Given the description of an element on the screen output the (x, y) to click on. 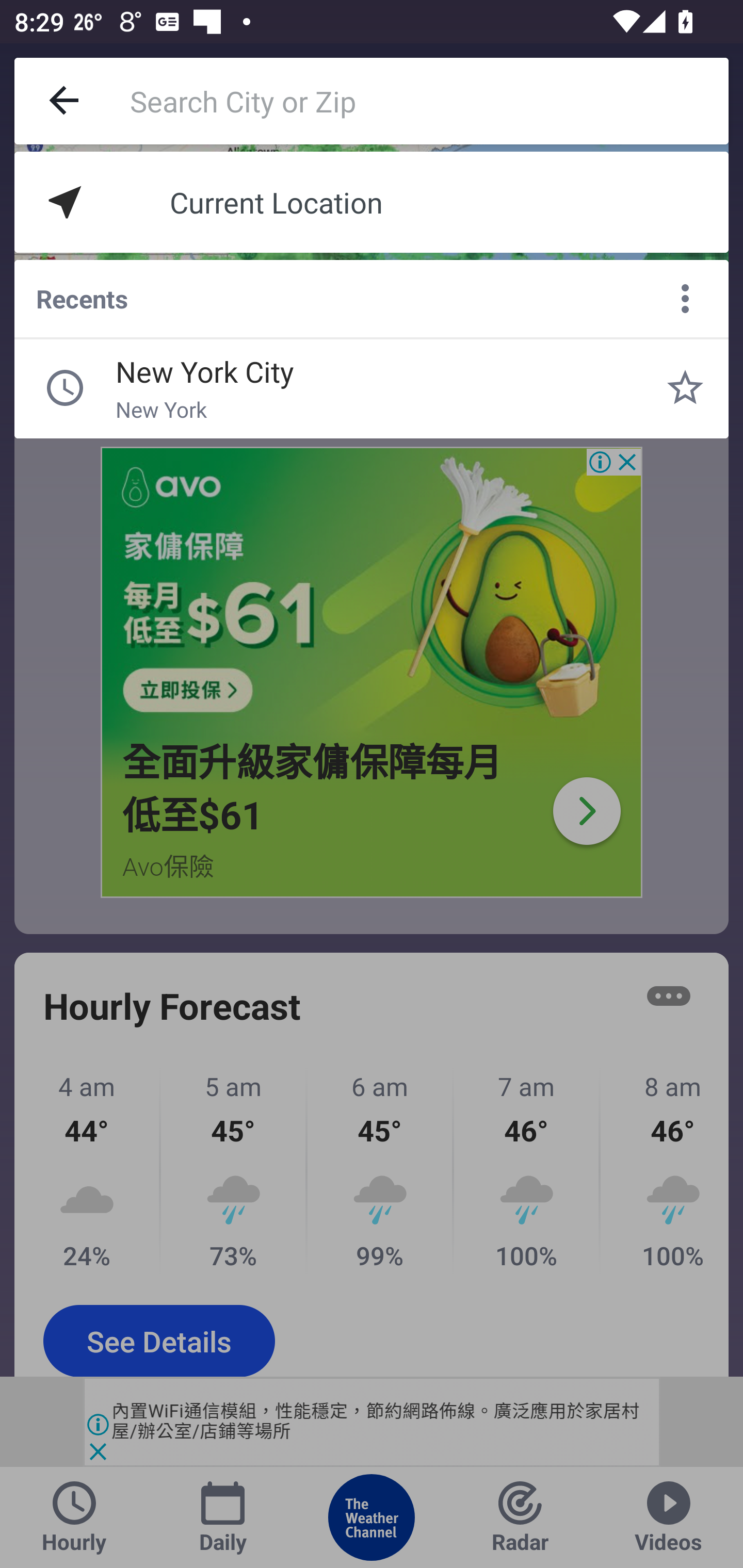
Back (64, 101)
Search City or Zip (429, 100)
Current Location (371, 202)
more (685, 298)
New York City New York Add to favorites (684, 387)
